Given the description of an element on the screen output the (x, y) to click on. 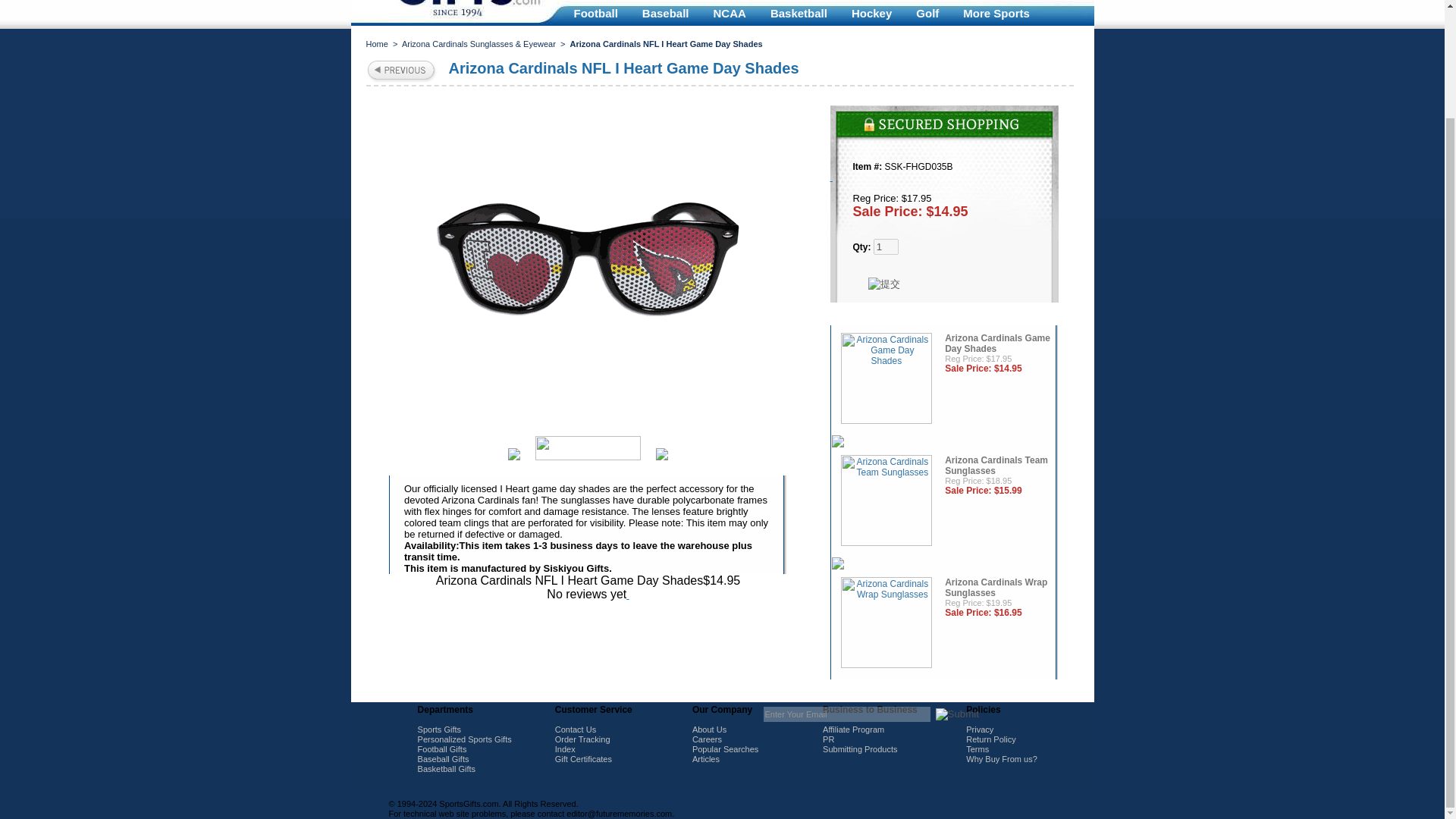
Arizona Cardinals Game Day Shades (886, 379)
More Sports (996, 12)
Basketball (799, 12)
1 (885, 246)
Football (594, 12)
Enter Your Email (846, 713)
Arizona Cardinals Team Sunglasses (886, 502)
Arizona Cardinals Wrap Sunglasses (886, 624)
NCAA (729, 12)
Submit (957, 714)
Hockey (872, 12)
Golf (927, 12)
Baseball (665, 12)
